Given the description of an element on the screen output the (x, y) to click on. 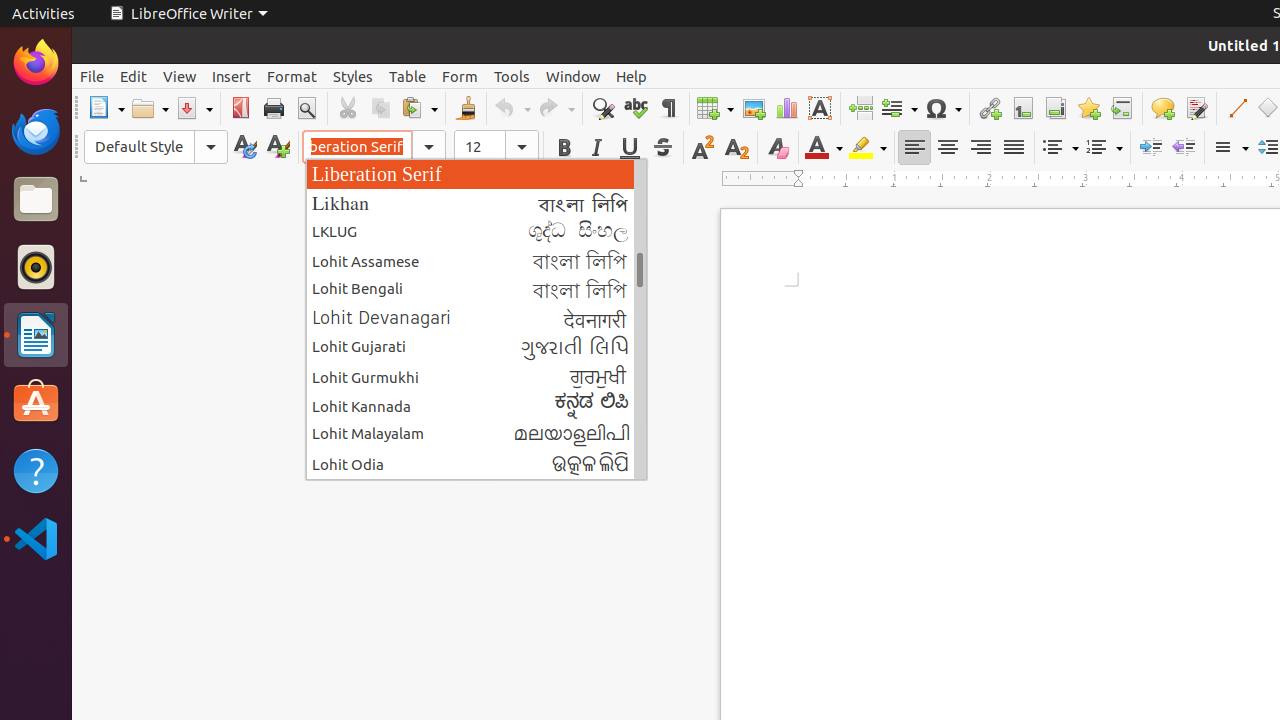
Clear Element type: push-button (777, 147)
Cross-reference Element type: push-button (1121, 108)
Lohit Devanagari Element type: list-item (476, 318)
Superscript Element type: toggle-button (703, 147)
LibreOffice Writer Element type: push-button (36, 334)
